Given the description of an element on the screen output the (x, y) to click on. 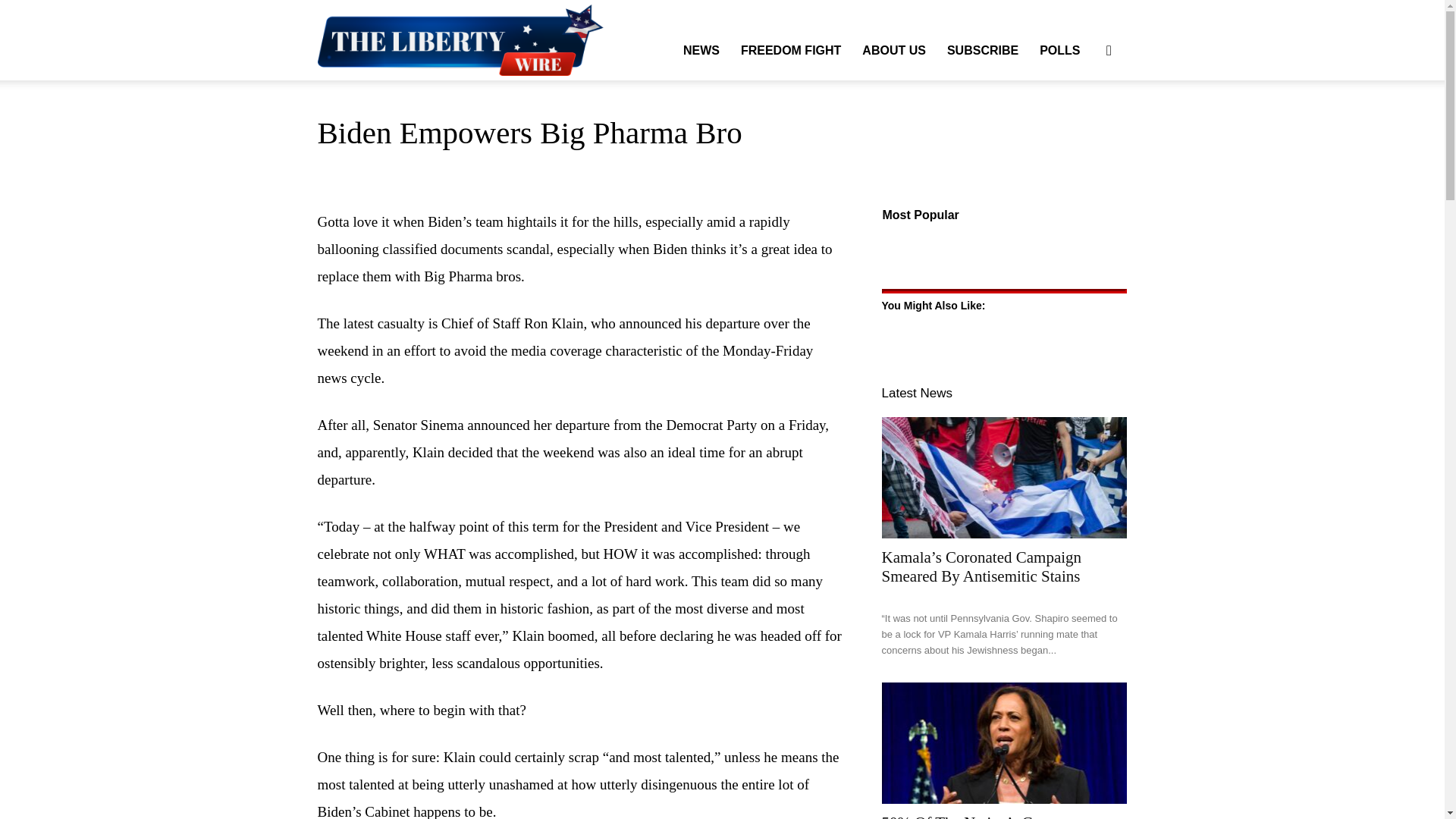
Search (1085, 122)
FREEDOM FIGHT (790, 50)
The Liberty Wire (474, 39)
ABOUT US (893, 50)
NEWS (701, 50)
Latest News (916, 392)
SUBSCRIBE (982, 50)
POLLS (1059, 50)
